Given the description of an element on the screen output the (x, y) to click on. 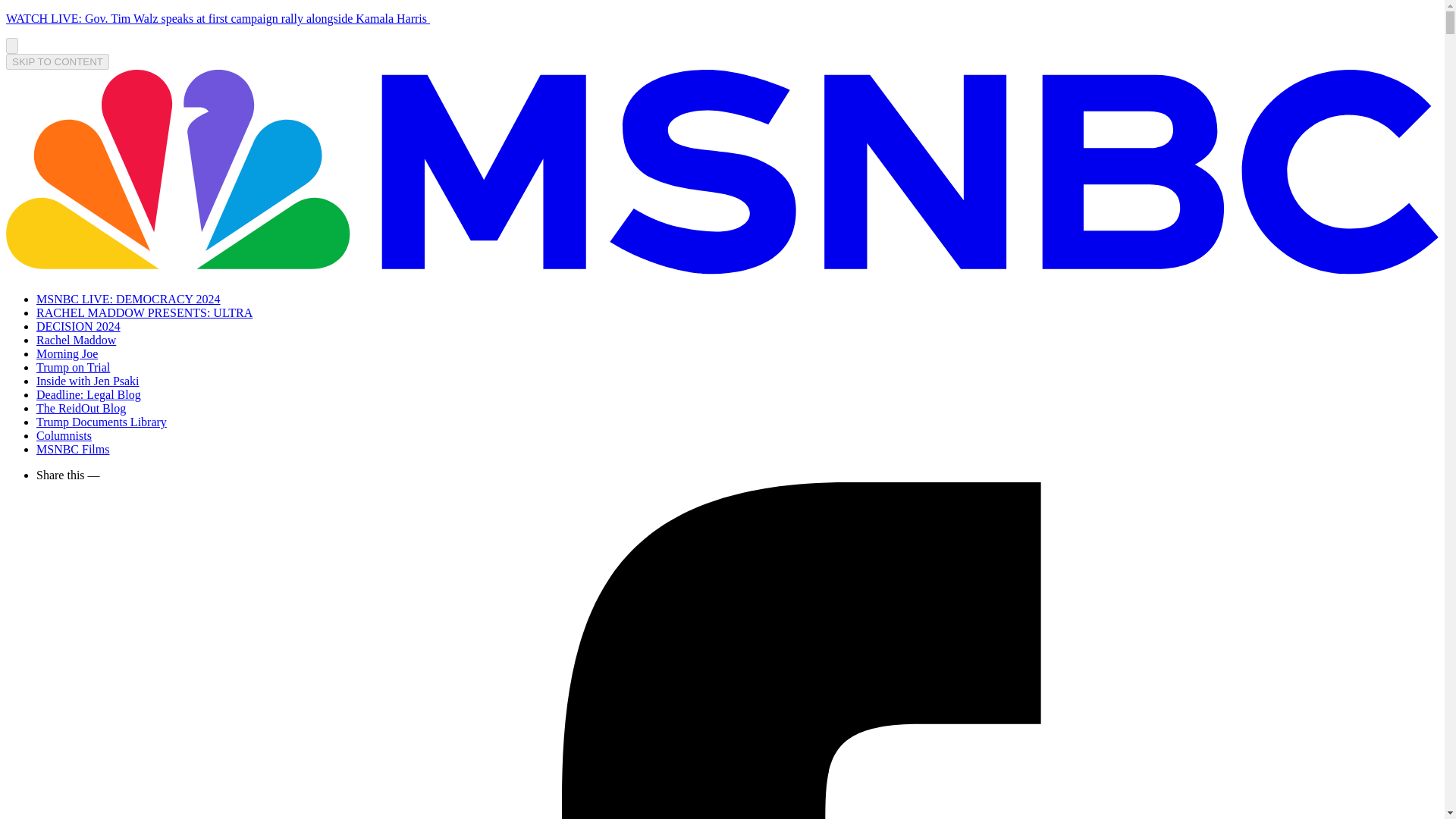
Inside with Jen Psaki (87, 380)
Columnists (63, 435)
Deadline: Legal Blog (88, 394)
Trump Documents Library (101, 421)
DECISION 2024 (78, 326)
MSNBC LIVE: DEMOCRACY 2024 (128, 298)
SKIP TO CONTENT (57, 61)
Rachel Maddow (76, 339)
Trump on Trial (73, 367)
Morning Joe (66, 353)
The ReidOut Blog (80, 408)
MSNBC Films (72, 449)
RACHEL MADDOW PRESENTS: ULTRA (143, 312)
